Given the description of an element on the screen output the (x, y) to click on. 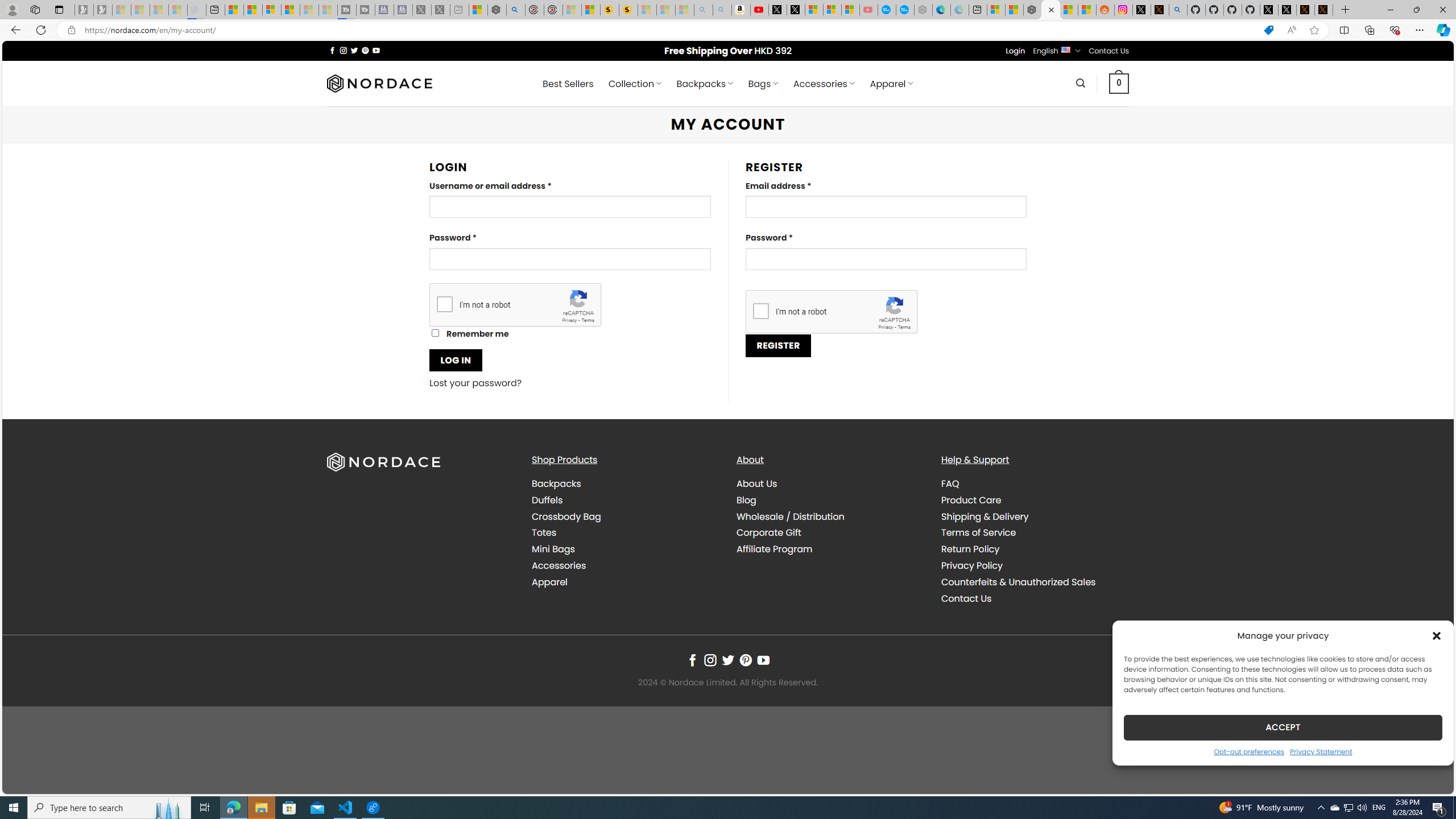
help.x.com | 524: A timeout occurred (1159, 9)
  Best Sellers (568, 83)
poe - Search (515, 9)
Affiliate Program (774, 549)
Apparel (625, 581)
Follow on Twitter (727, 659)
